Given the description of an element on the screen output the (x, y) to click on. 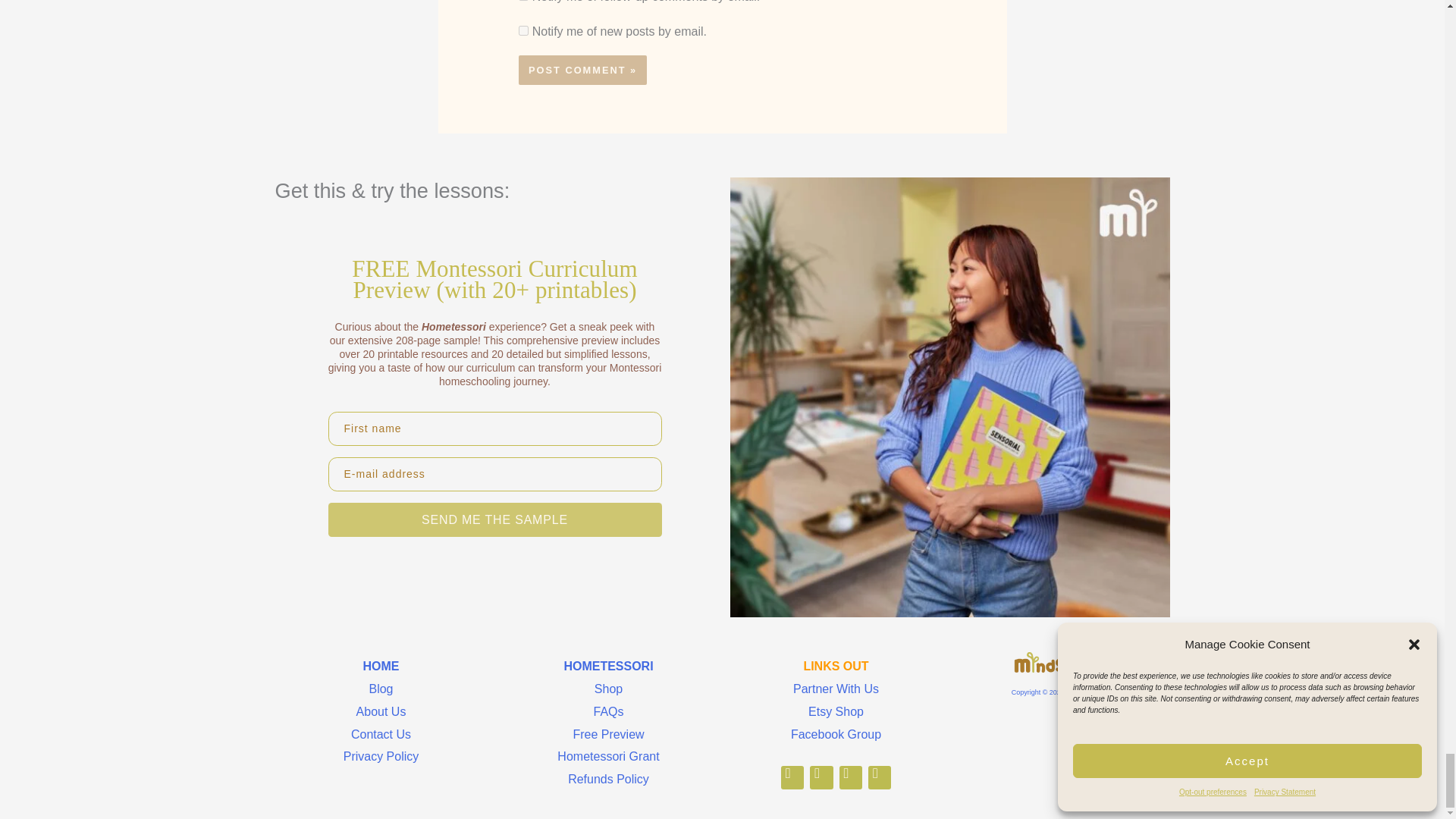
subscribe (523, 30)
